Given the description of an element on the screen output the (x, y) to click on. 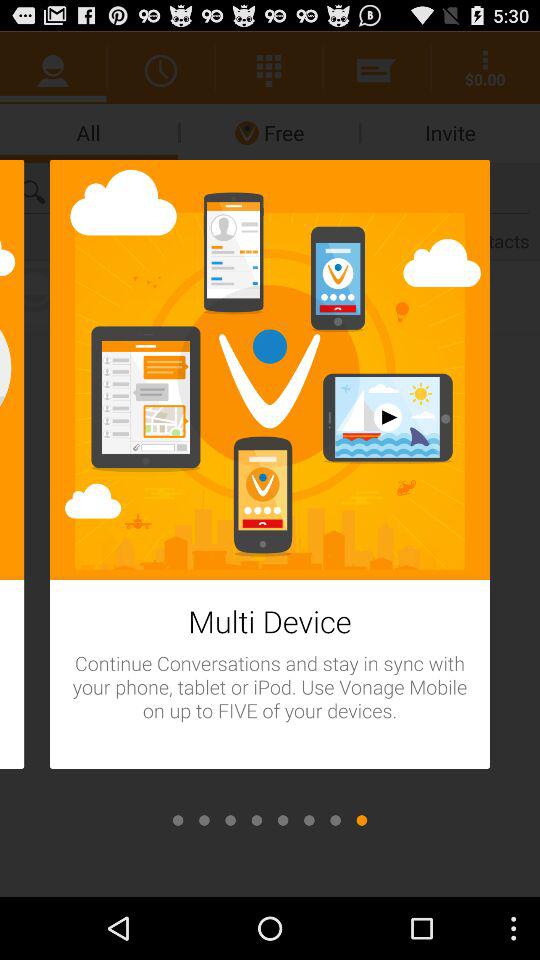
move to page 2 (204, 820)
